Given the description of an element on the screen output the (x, y) to click on. 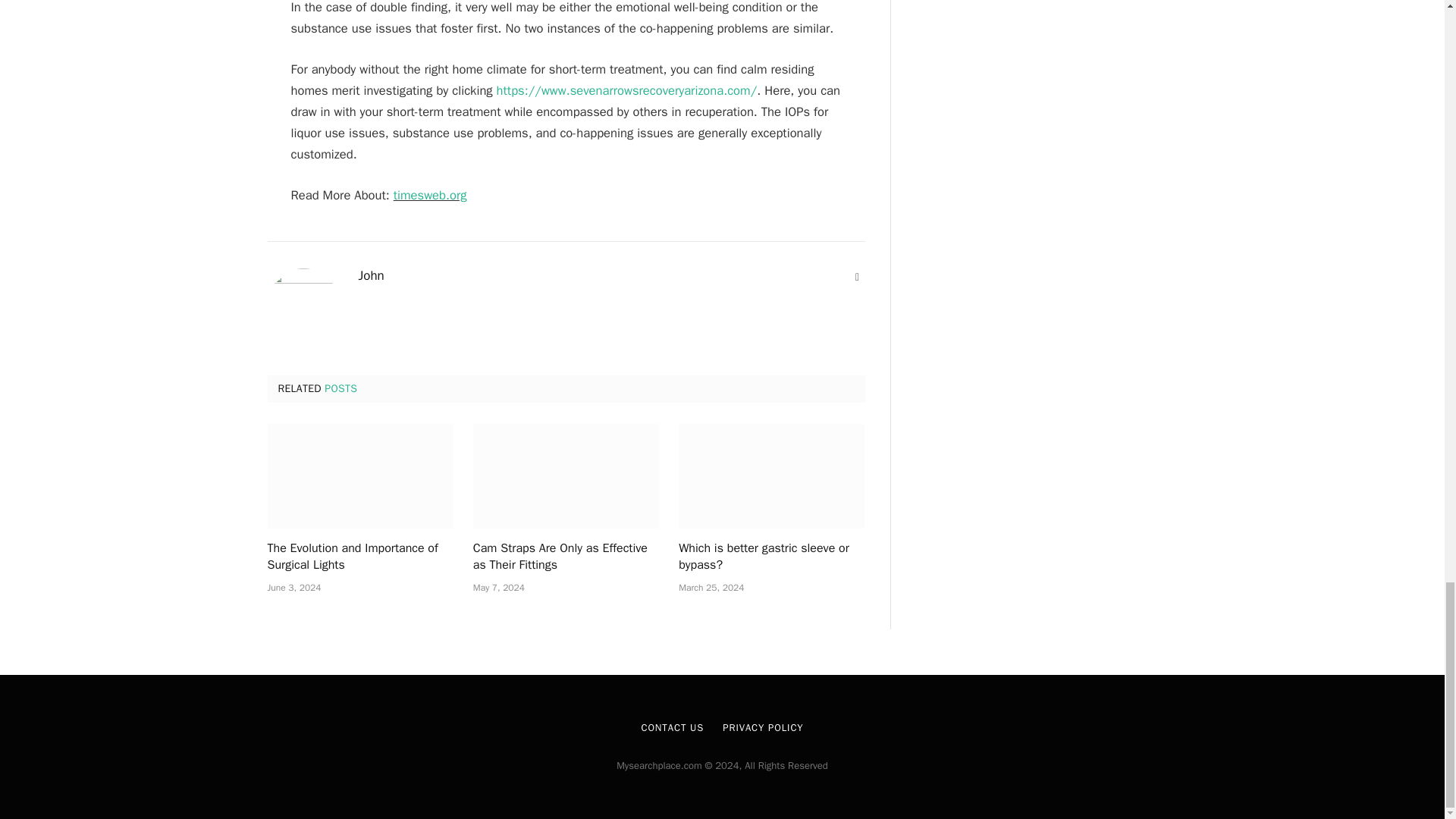
Website (856, 277)
Which is better gastric sleeve or bypass? (771, 557)
Posts by John (371, 275)
Cam Straps Are Only as Effective as Their Fittings (566, 557)
The Evolution and Importance of Surgical Lights (359, 476)
John (371, 275)
timesweb.org (430, 195)
The Evolution and Importance of Surgical Lights (359, 557)
Cam Straps Are Only as Effective as Their Fittings (566, 476)
Website (856, 277)
